Given the description of an element on the screen output the (x, y) to click on. 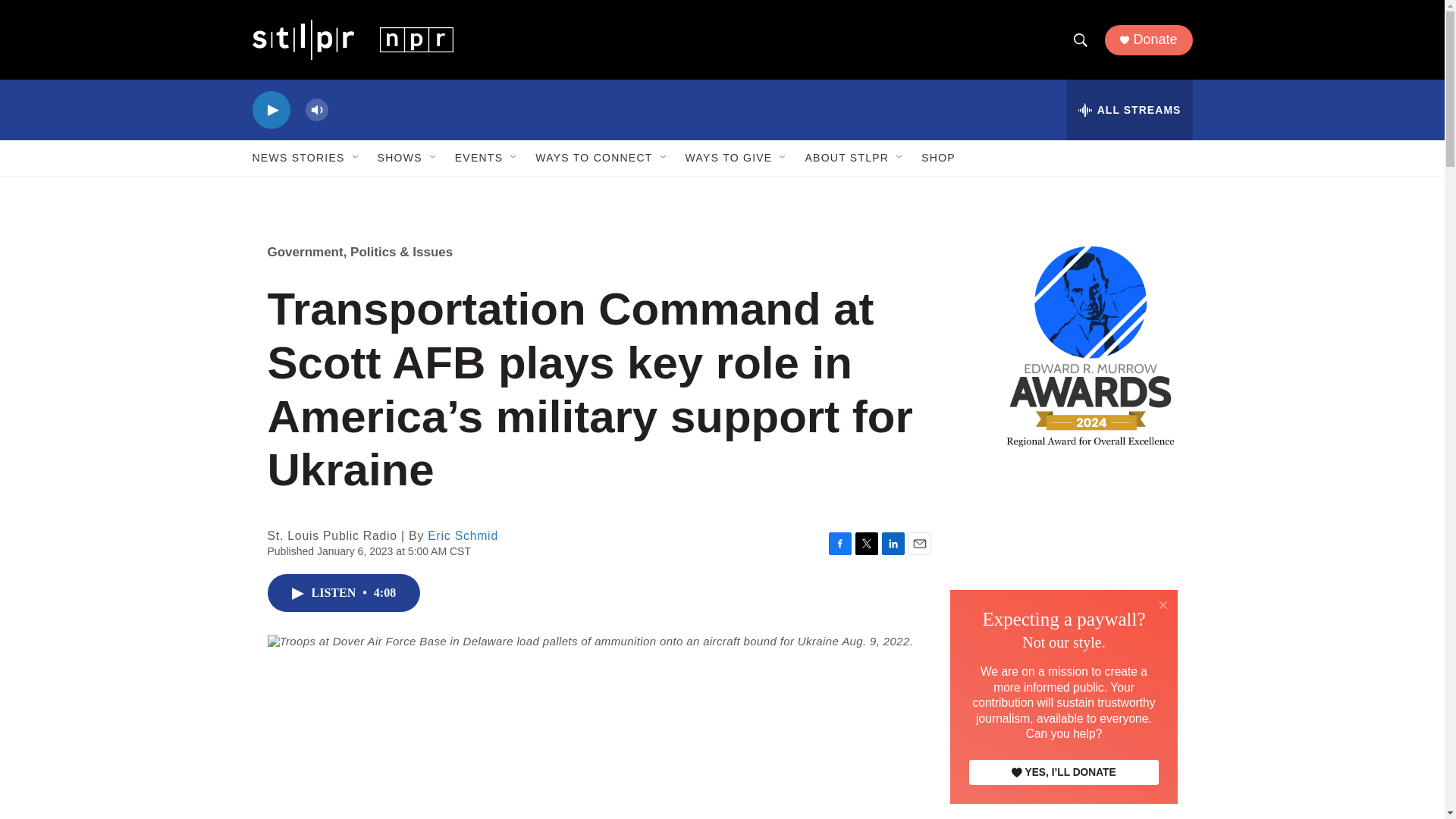
Close (1162, 605)
Close (1162, 604)
